Given the description of an element on the screen output the (x, y) to click on. 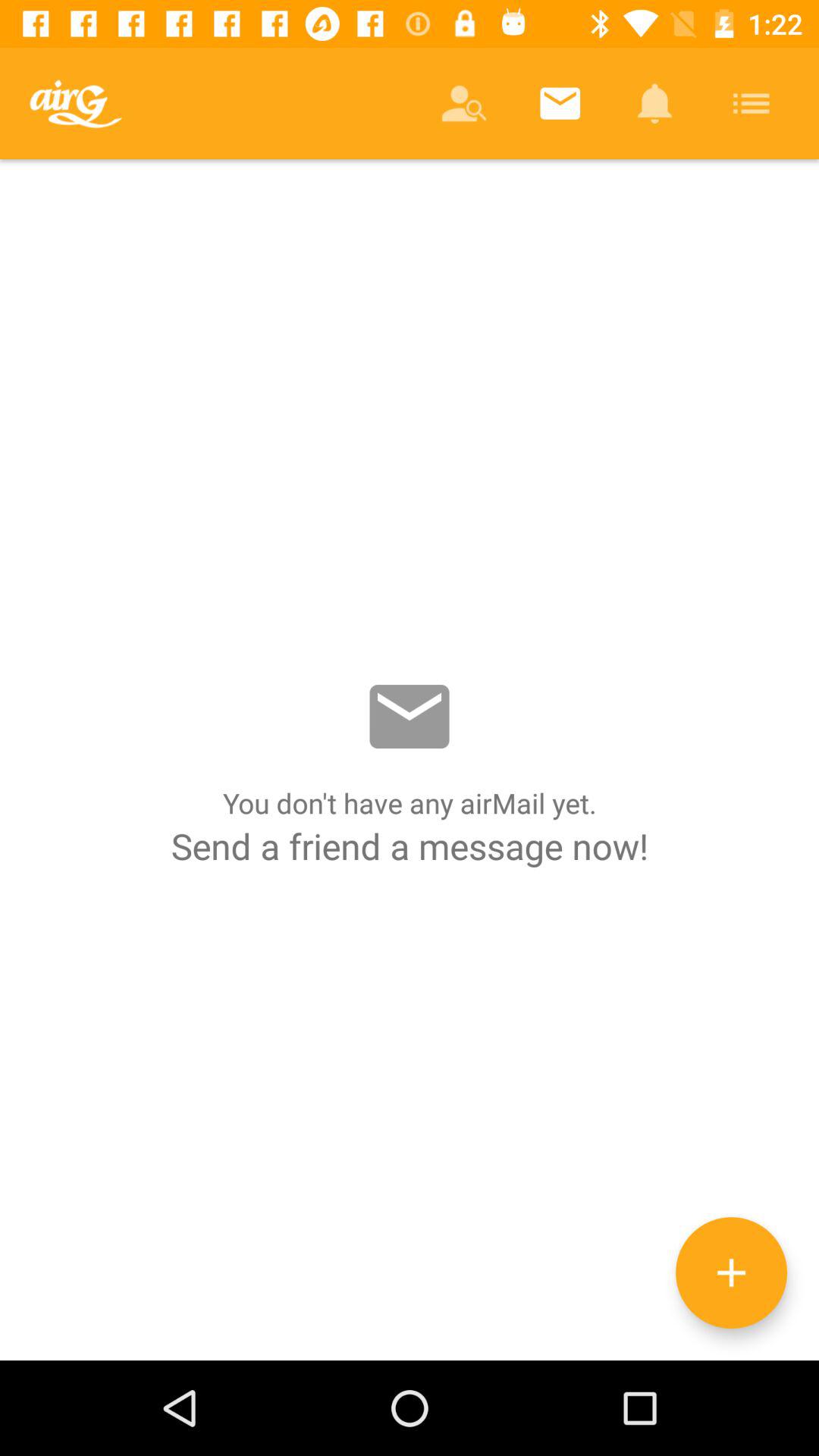
main application screen (409, 759)
